Given the description of an element on the screen output the (x, y) to click on. 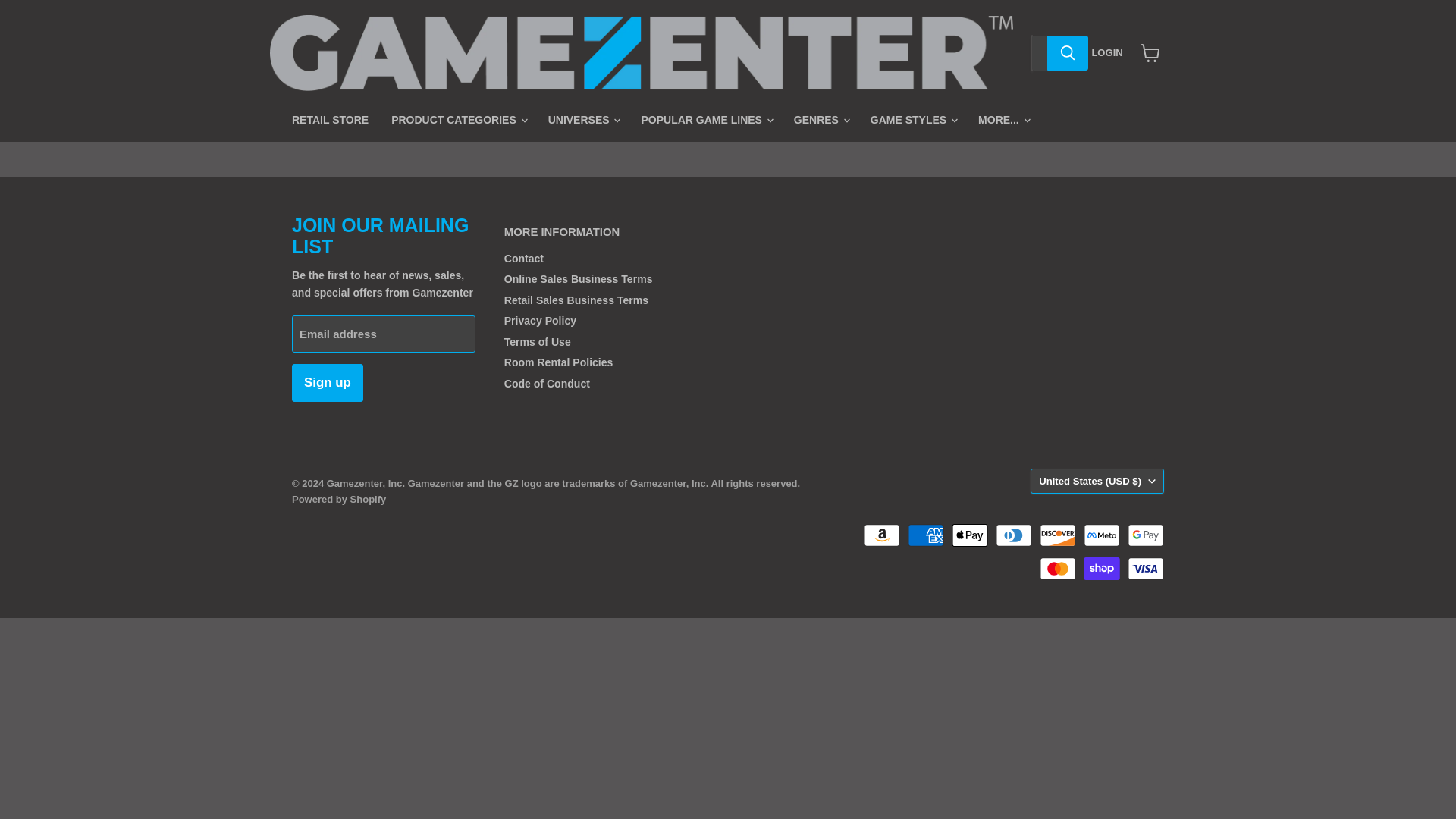
Google Pay (1144, 535)
American Express (925, 535)
Meta Pay (1101, 535)
Amazon (881, 535)
Apple Pay (970, 535)
Visa (1144, 568)
Diners Club (1013, 535)
View cart (1150, 52)
Mastercard (1057, 568)
LOGIN (1099, 53)
RETAIL STORE (330, 119)
Discover (1057, 535)
Shop Pay (1101, 568)
